Given the description of an element on the screen output the (x, y) to click on. 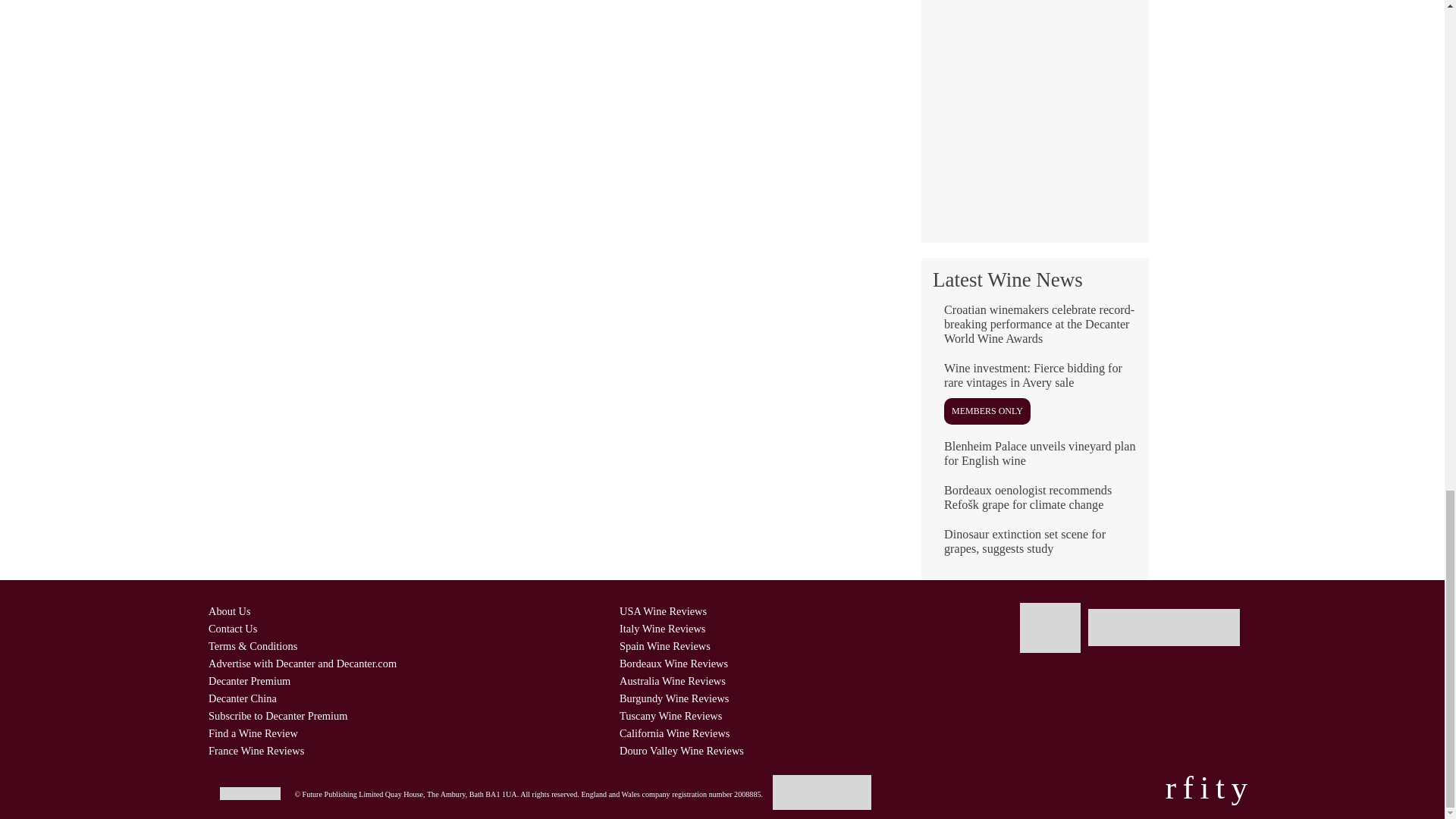
Blenheim Palace unveils vineyard plan for English wine (1035, 459)
Dinosaur extinction set scene for grapes, suggests study (1035, 547)
